Given the description of an element on the screen output the (x, y) to click on. 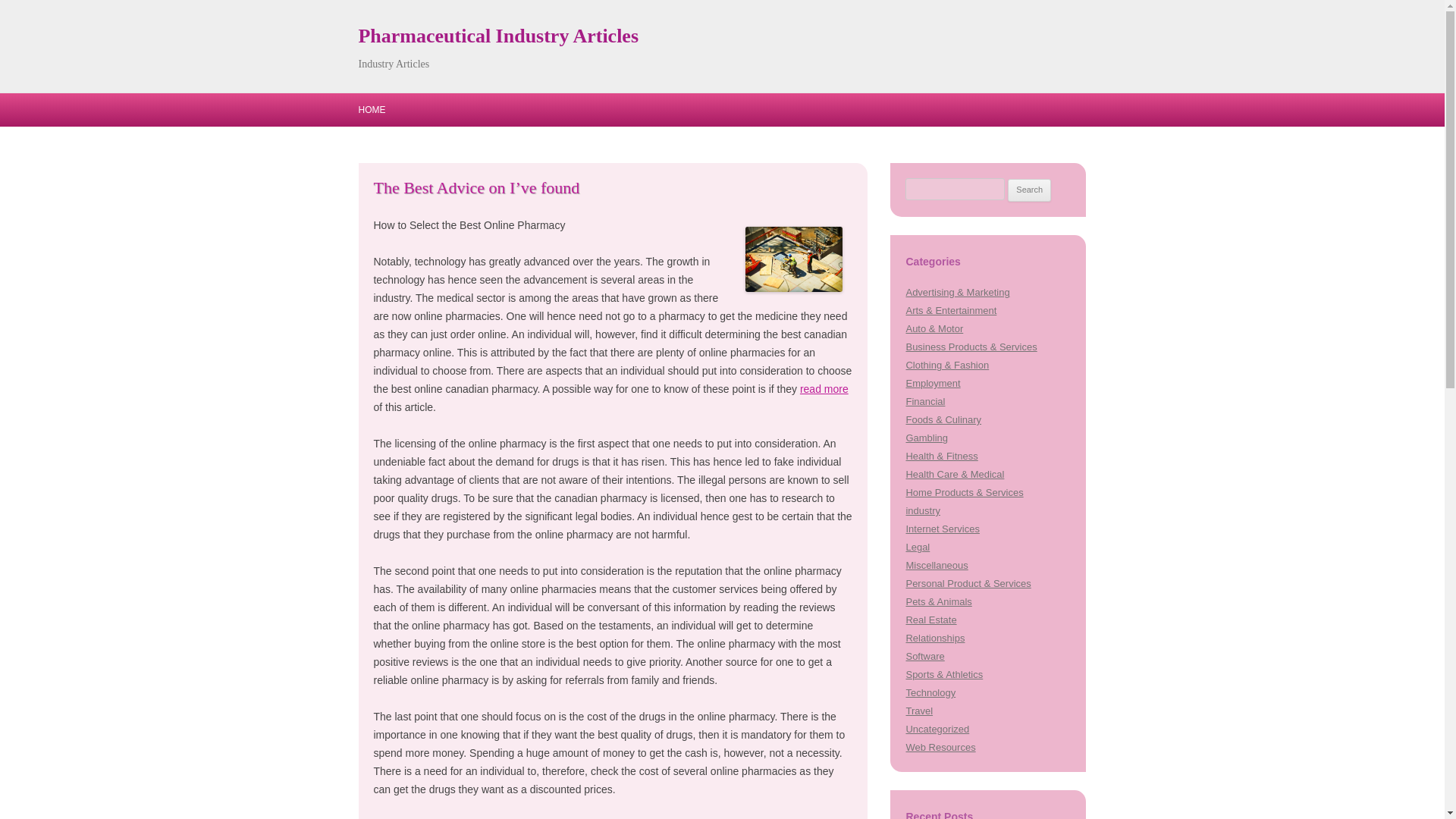
Employment (932, 383)
Search (1029, 190)
Financial (924, 401)
Uncategorized (937, 728)
Real Estate (930, 619)
Web Resources (940, 747)
Software (924, 655)
industry (922, 510)
Search (1029, 190)
Internet Services (941, 528)
Technology (930, 692)
Pharmaceutical Industry Articles (498, 36)
Pharmaceutical Industry Articles (498, 36)
